Given the description of an element on the screen output the (x, y) to click on. 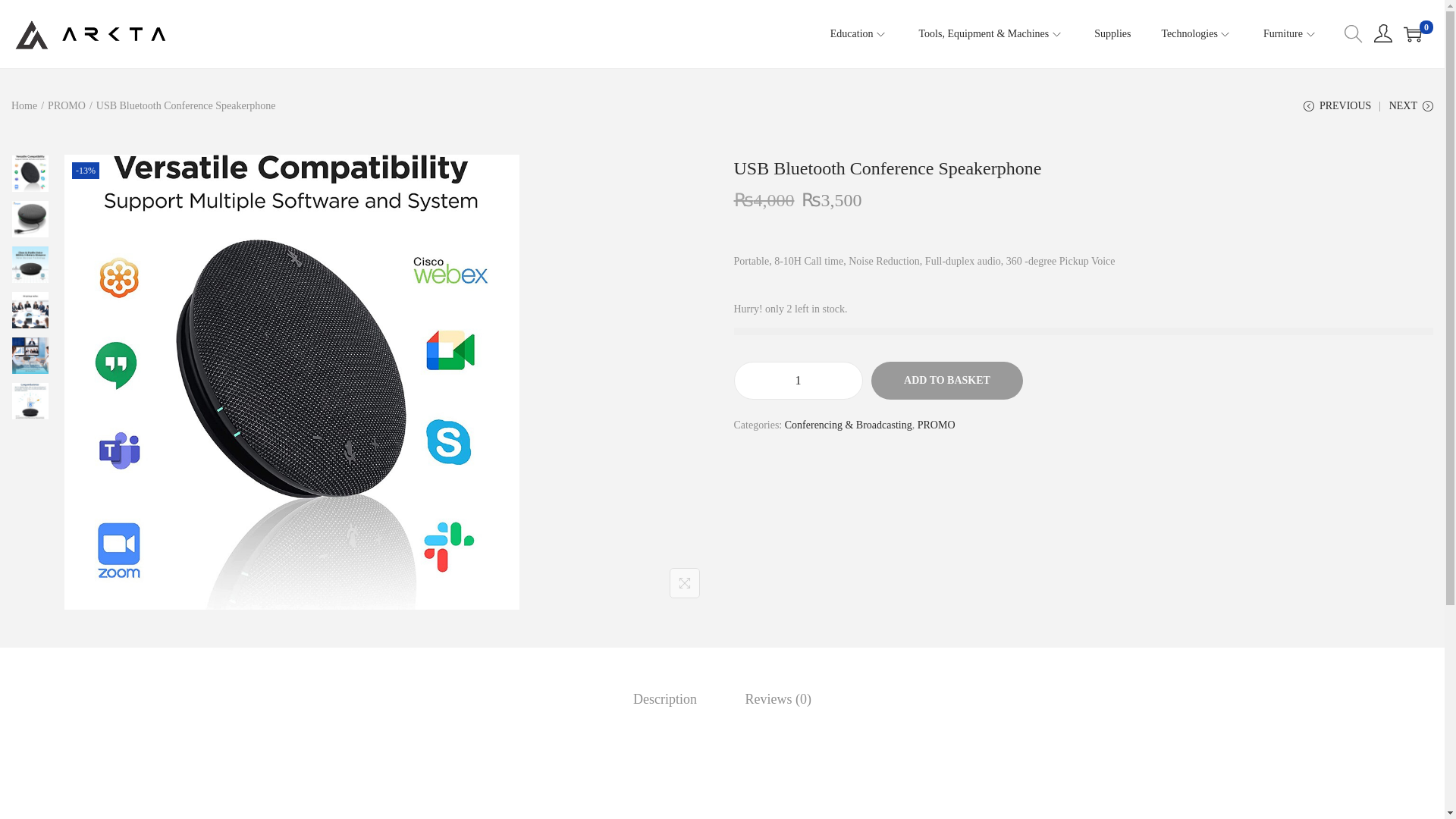
1 (797, 380)
Technologies (1195, 33)
Qty (797, 380)
